Given the description of an element on the screen output the (x, y) to click on. 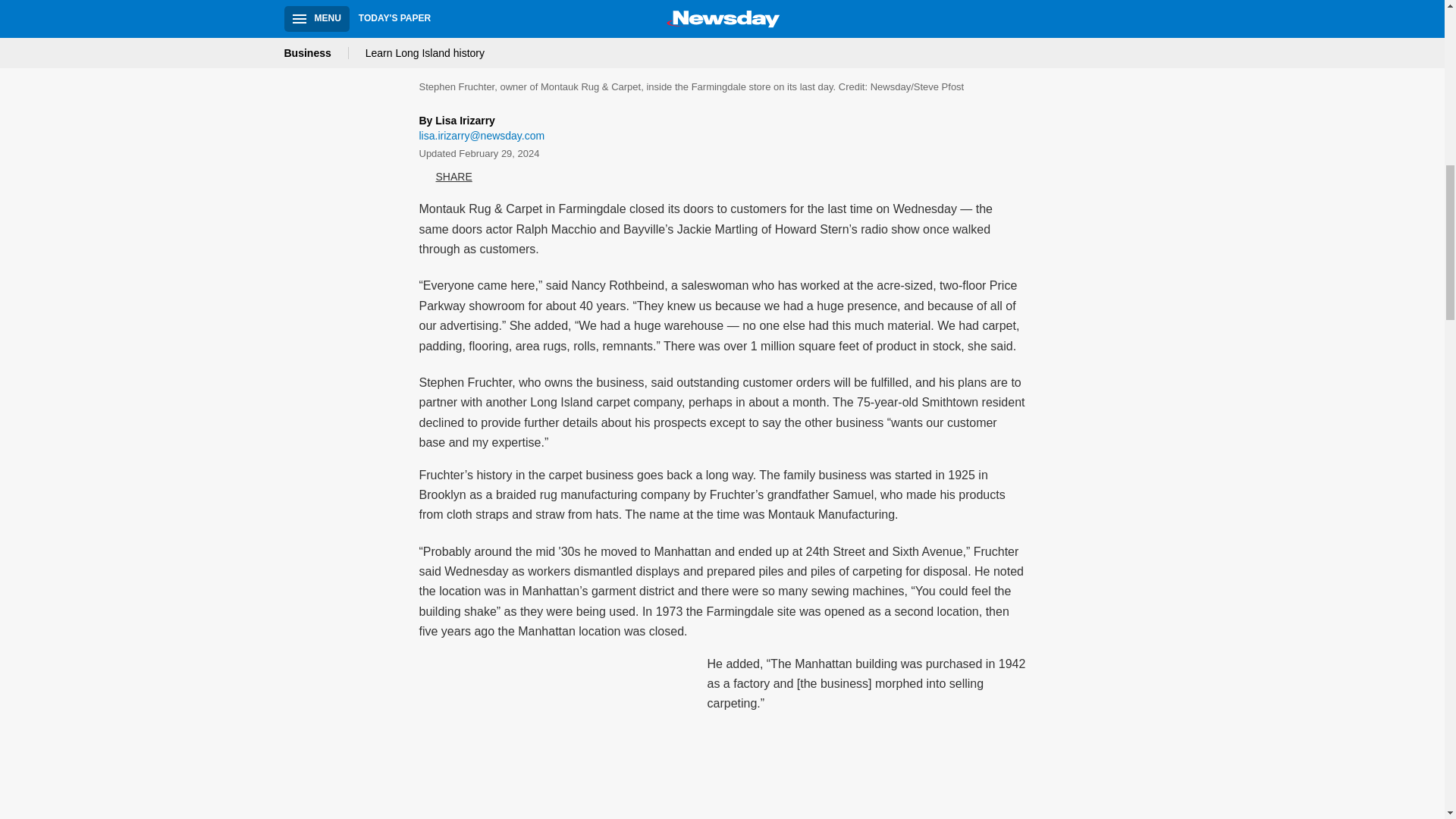
SHARE (445, 177)
